Given the description of an element on the screen output the (x, y) to click on. 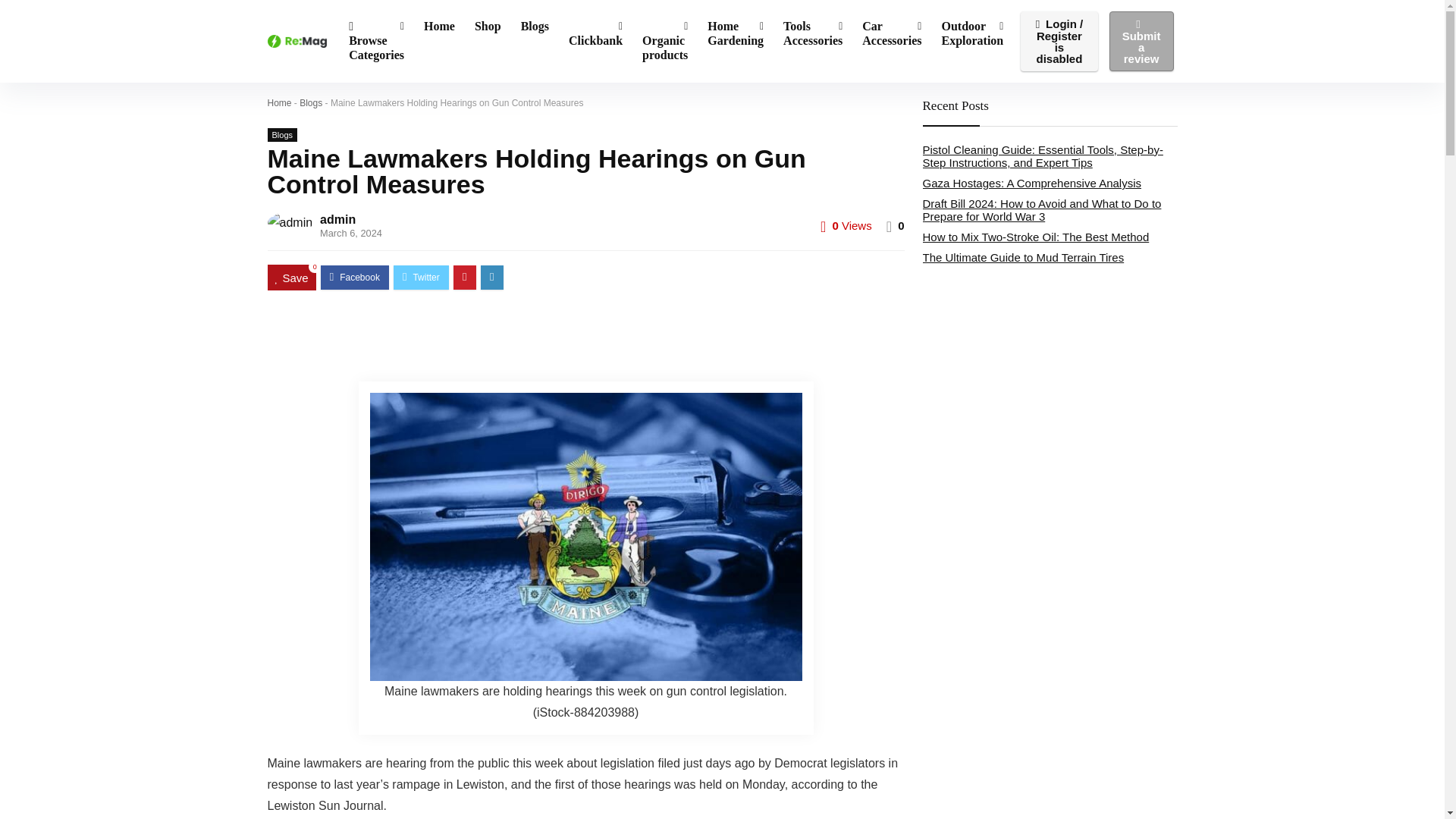
Home Gardening (735, 33)
Clickbank (595, 33)
Home (438, 26)
Tools Accessories (812, 33)
Shop (487, 26)
Browse Categories (376, 40)
Organic products (664, 40)
View all posts in Blogs (281, 134)
Blogs (535, 26)
